Given the description of an element on the screen output the (x, y) to click on. 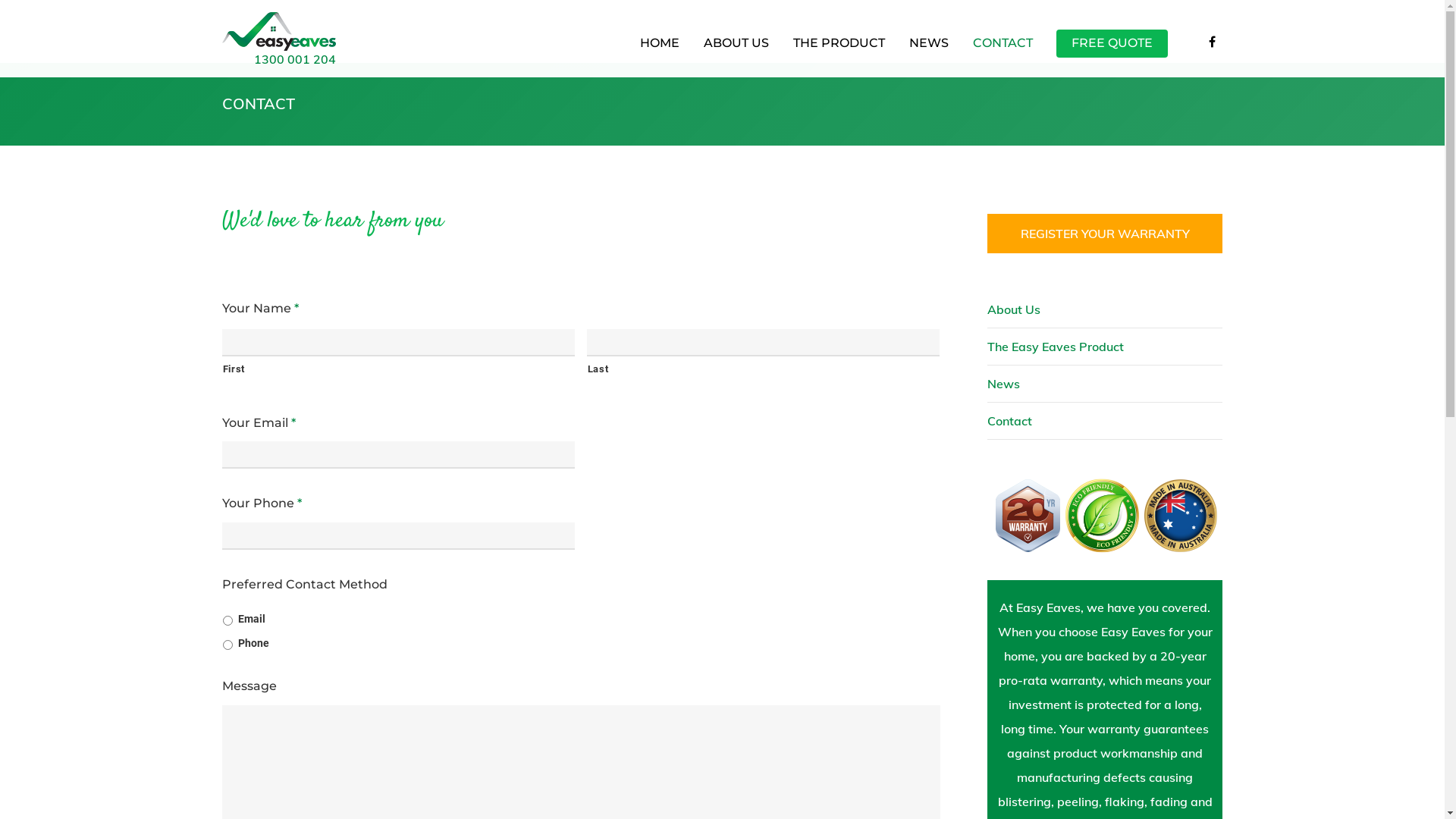
The Easy Eaves Product Element type: text (1104, 346)
News Element type: text (1104, 383)
REGISTER YOUR WARRANTY Element type: text (1104, 233)
FREE QUOTE Element type: text (1111, 48)
ABOUT US Element type: text (735, 48)
About Us Element type: text (1104, 309)
THE PRODUCT Element type: text (838, 48)
HOME Element type: text (658, 48)
Privacy Element type: text (732, 802)
IBWS Element type: text (804, 802)
CONTACT Element type: text (1002, 48)
NEWS Element type: text (928, 48)
1300 001 204 Element type: text (294, 59)
Contact Element type: text (1104, 420)
